Given the description of an element on the screen output the (x, y) to click on. 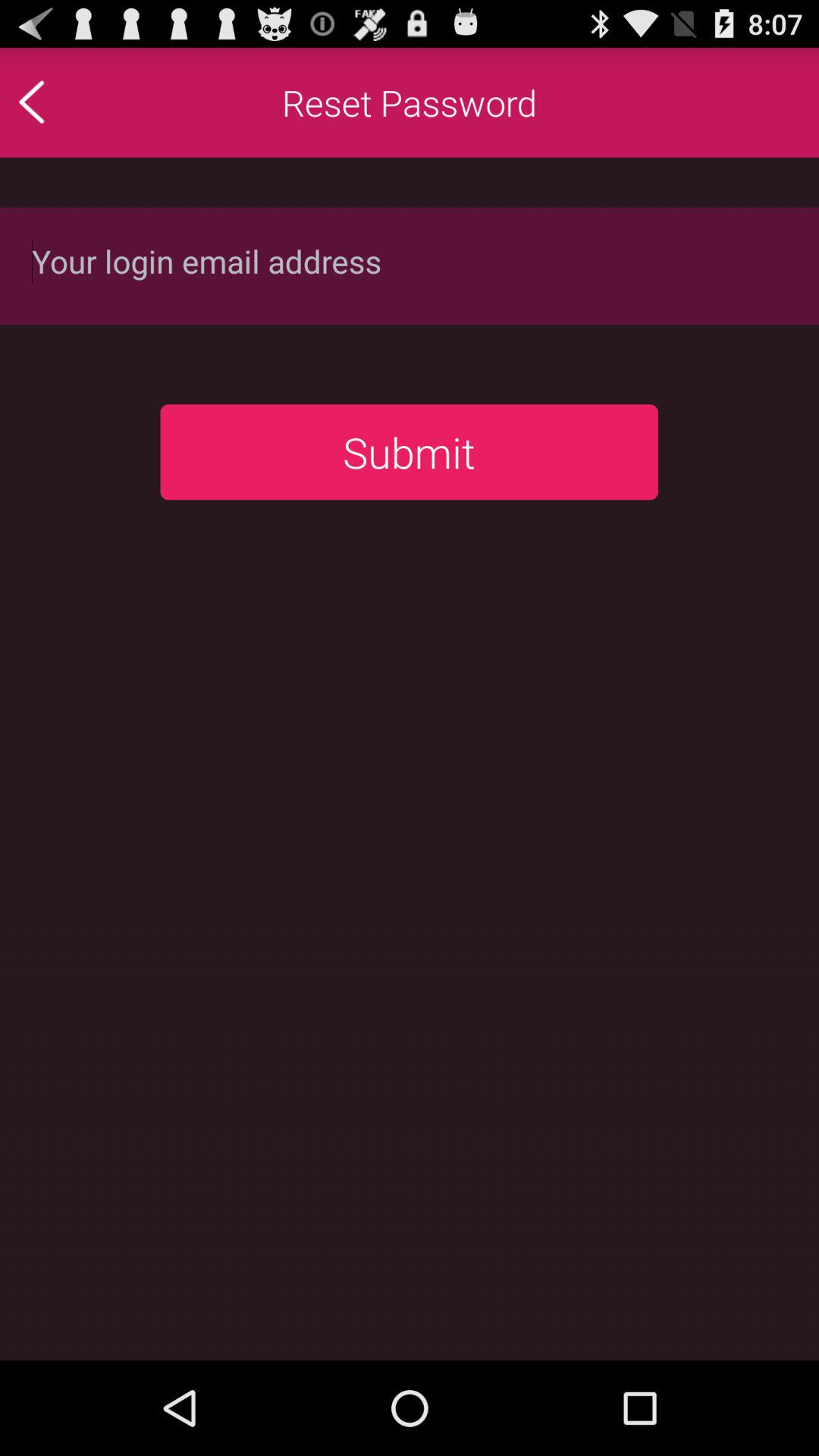
enter email address (409, 264)
